Given the description of an element on the screen output the (x, y) to click on. 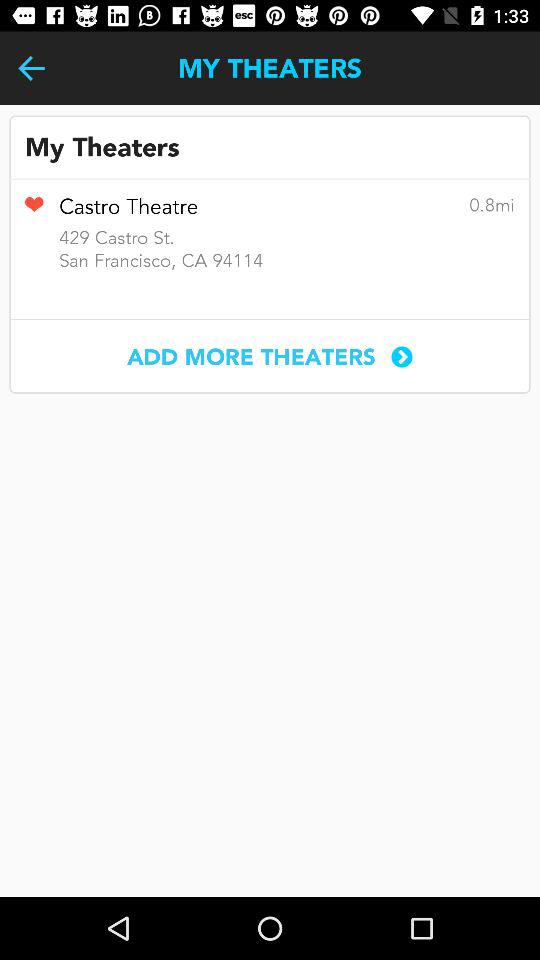
remove from favorites (34, 211)
